Given the description of an element on the screen output the (x, y) to click on. 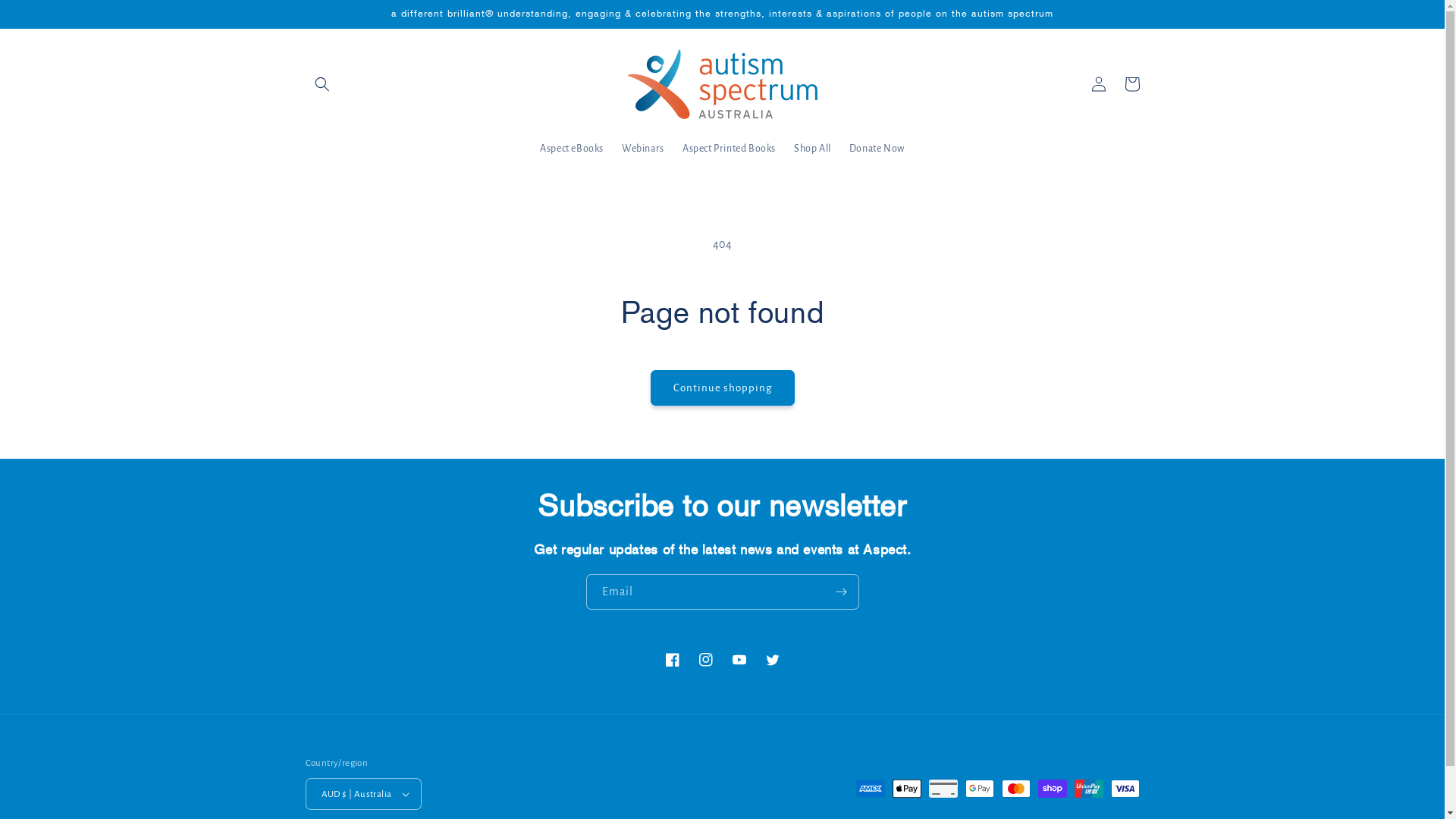
Aspect Printed Books Element type: text (728, 148)
Cart Element type: text (1131, 83)
Donate Now Element type: text (876, 148)
AUD $ | Australia Element type: text (362, 793)
Twitter Element type: text (771, 659)
YouTube Element type: text (738, 659)
Log in Element type: text (1097, 83)
Aspect eBooks Element type: text (571, 148)
Continue shopping Element type: text (722, 387)
Shop All Element type: text (812, 148)
Webinars Element type: text (642, 148)
Facebook Element type: text (671, 659)
Instagram Element type: text (704, 659)
